Given the description of an element on the screen output the (x, y) to click on. 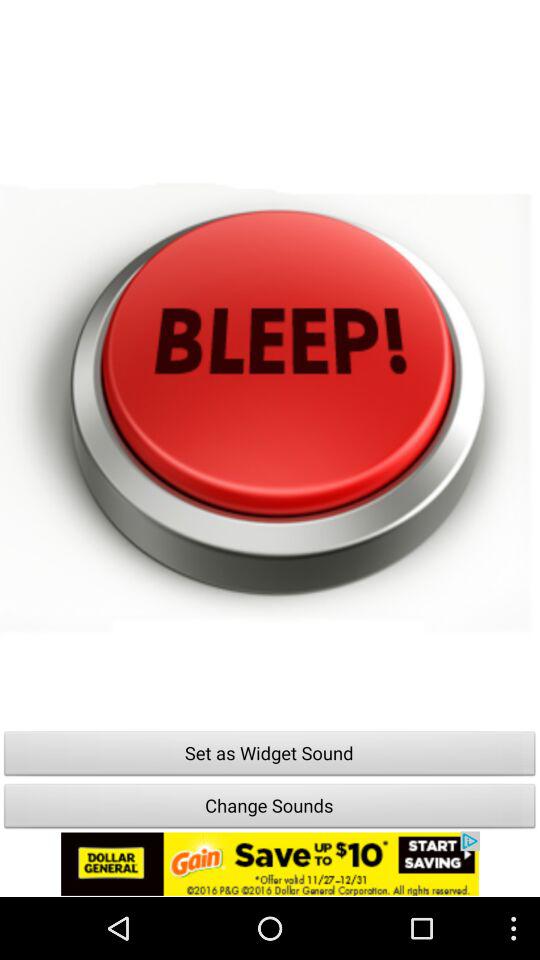
add icone (270, 864)
